Given the description of an element on the screen output the (x, y) to click on. 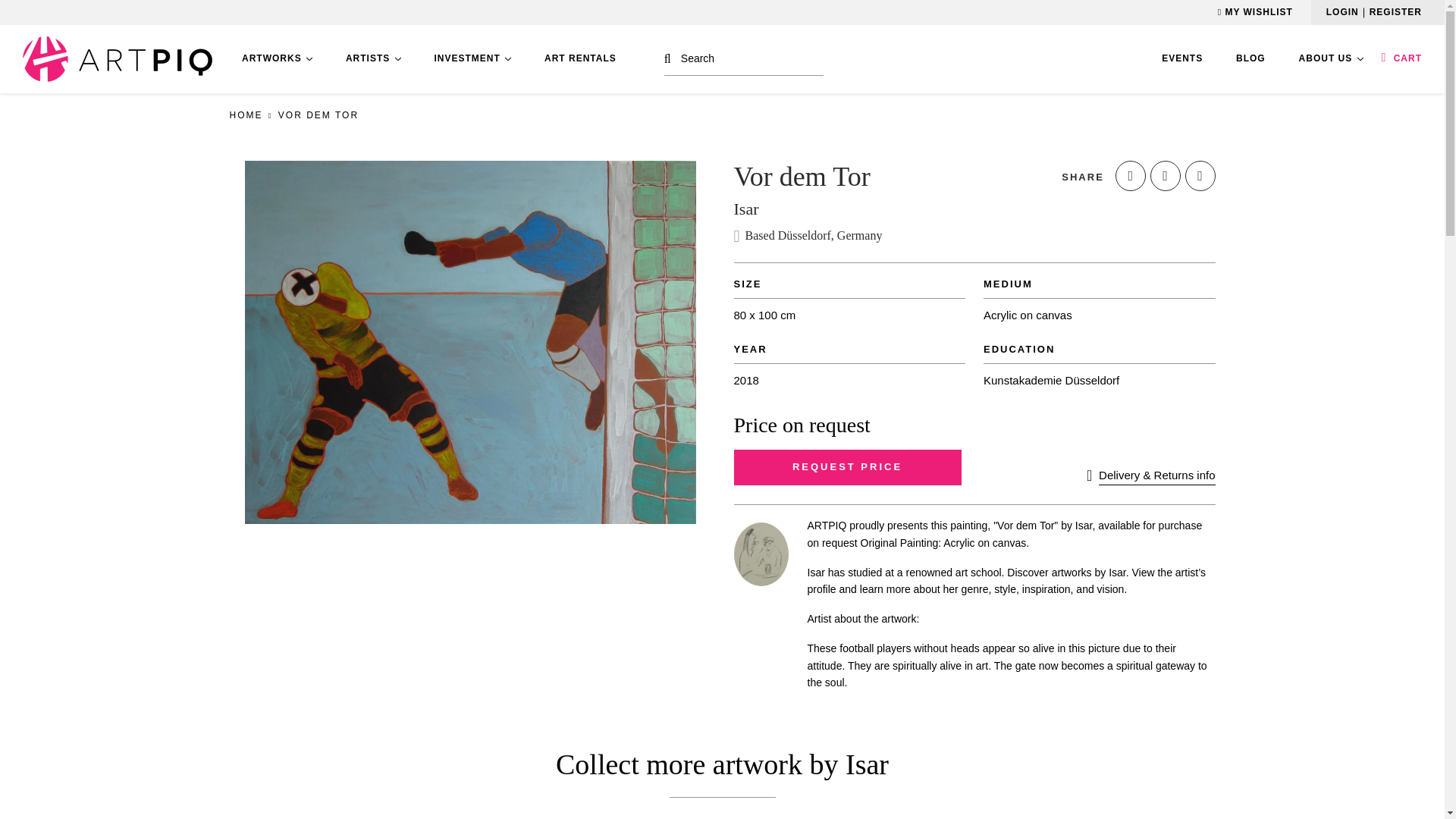
MY WISHLIST (1254, 11)
Share on Facebook (1130, 175)
EVENTS (1181, 58)
Home (245, 114)
BLOG (1250, 58)
Tweet on Twitter (1165, 175)
HOME (245, 114)
Pin on Pinterest (1199, 175)
LOGIN (1342, 11)
CART (1401, 58)
ART RENTALS (579, 58)
REGISTER (1396, 11)
